Given the description of an element on the screen output the (x, y) to click on. 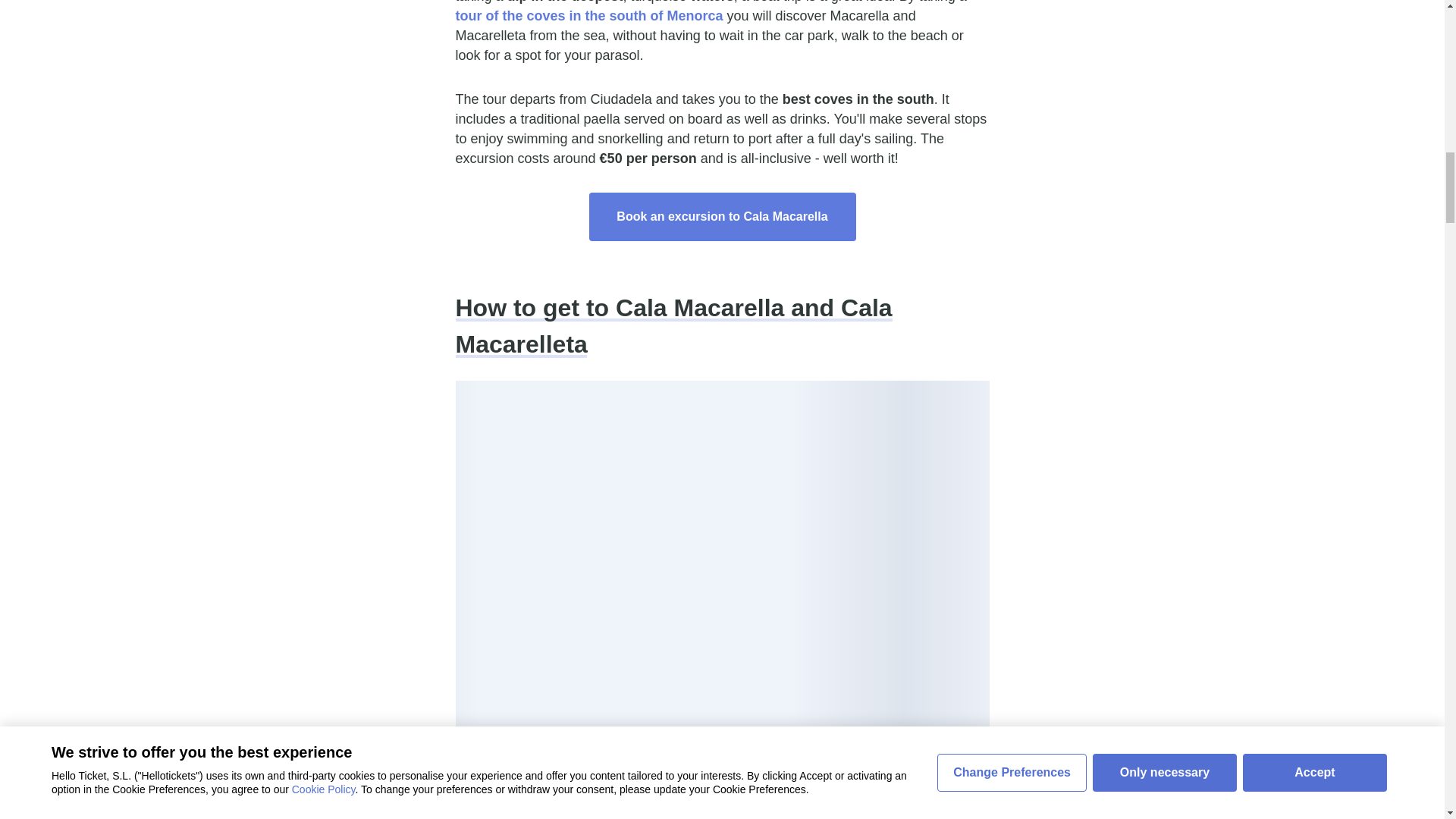
Book an excursion to Cala Macarella (722, 216)
tour of the coves in the south of Menorca (588, 15)
